Given the description of an element on the screen output the (x, y) to click on. 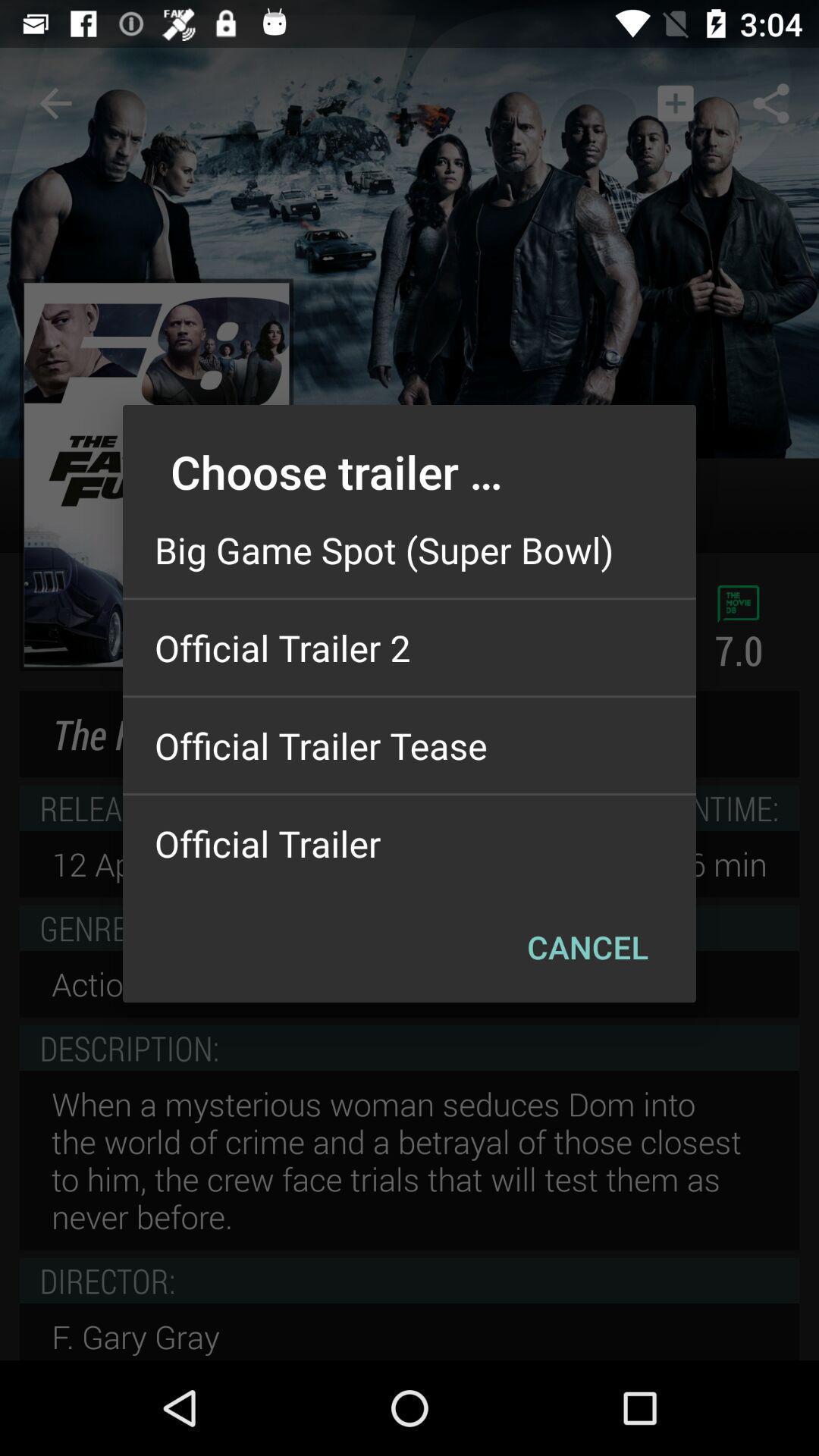
press the item on the right (587, 946)
